Given the description of an element on the screen output the (x, y) to click on. 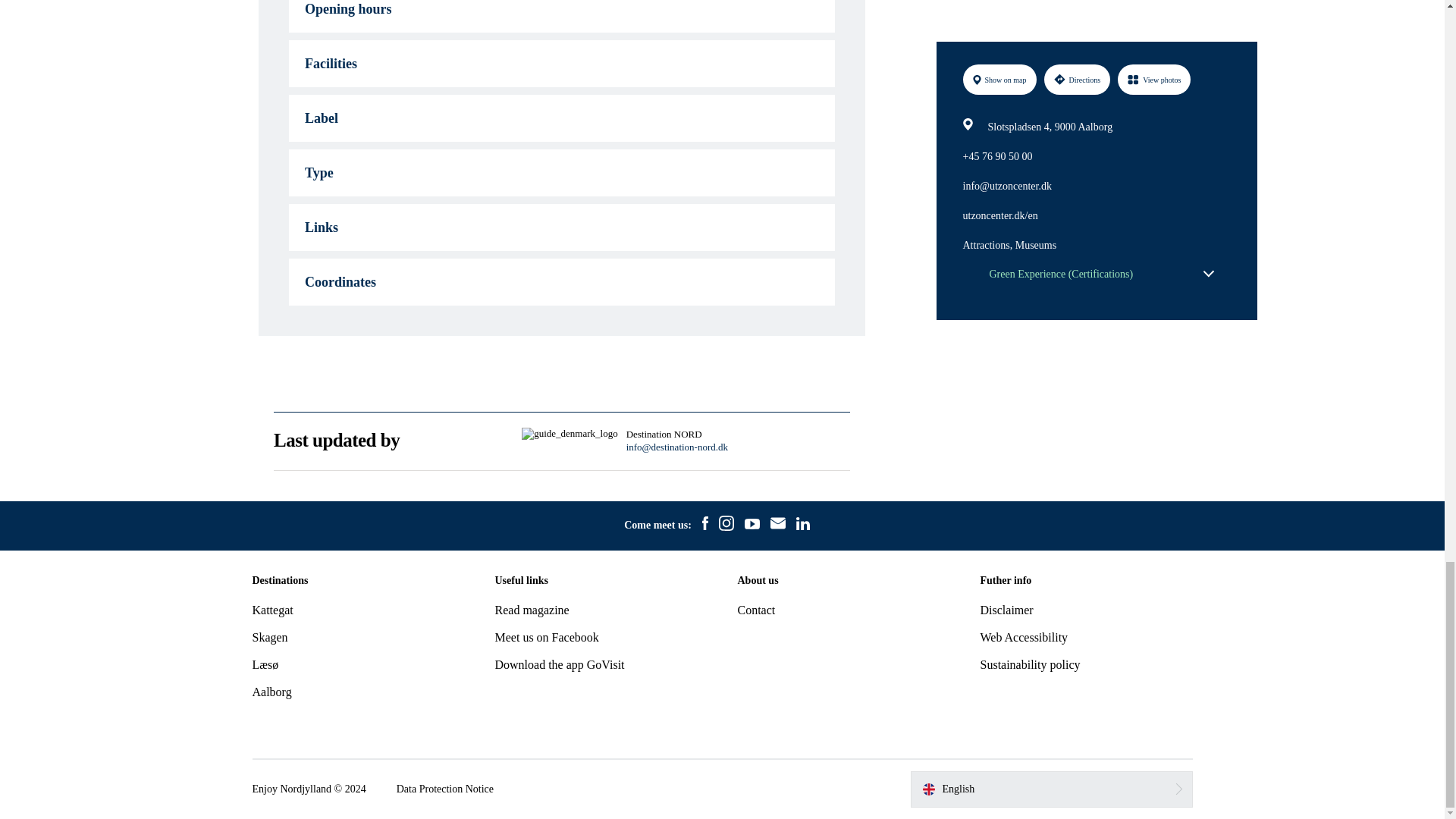
Coordinates (561, 281)
Read magazine (532, 609)
Links (561, 226)
newsletter (777, 525)
Kattegat (271, 609)
youtube (752, 525)
Aalborg (271, 691)
Label (561, 118)
Download the app GoVisit (559, 664)
Facilities (561, 63)
